Given the description of an element on the screen output the (x, y) to click on. 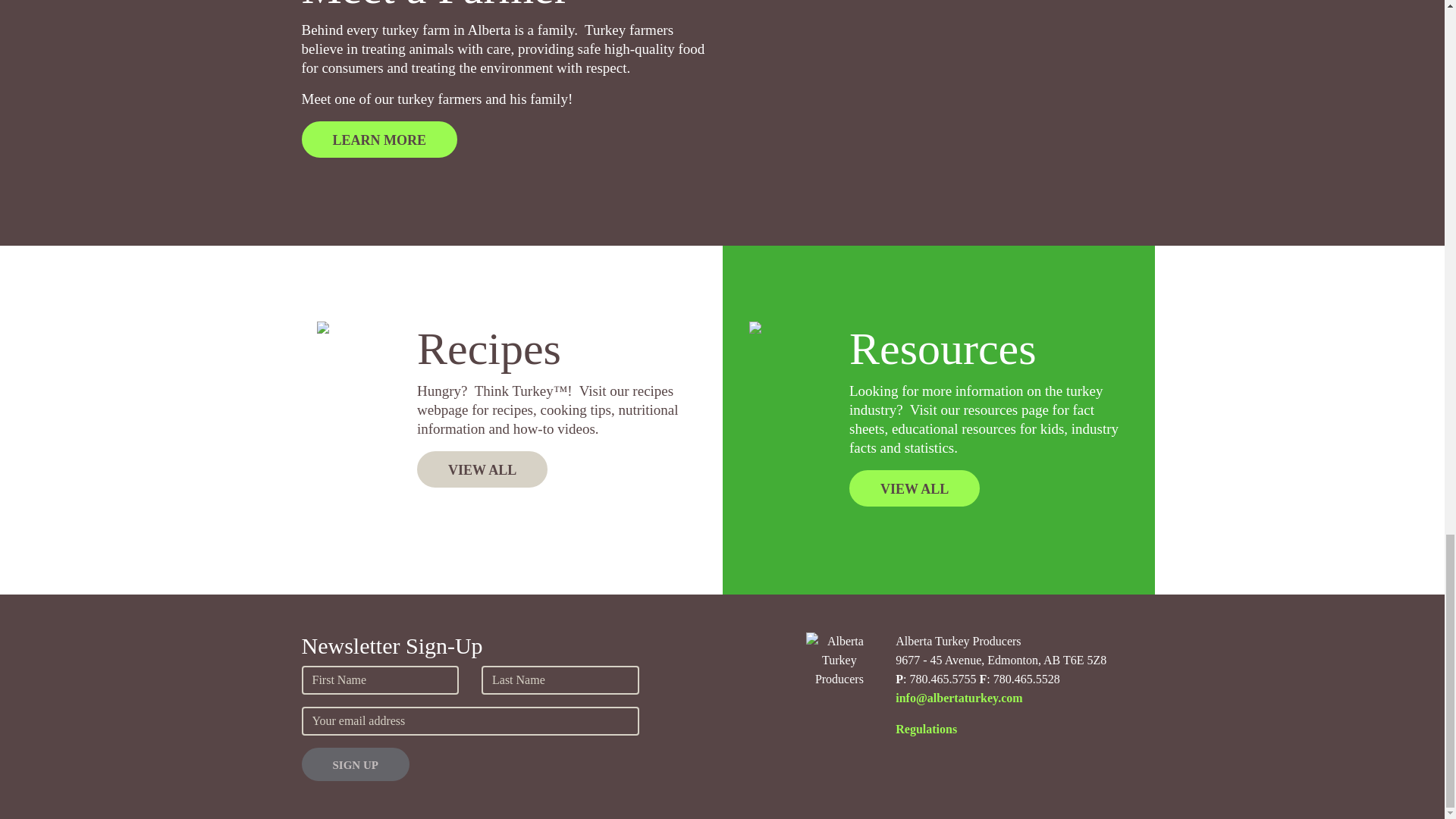
VIEW ALL (481, 469)
VIEW ALL (913, 488)
Sign up (355, 764)
LEARN MORE (379, 139)
Regulations (925, 728)
Sign up (355, 764)
